Given the description of an element on the screen output the (x, y) to click on. 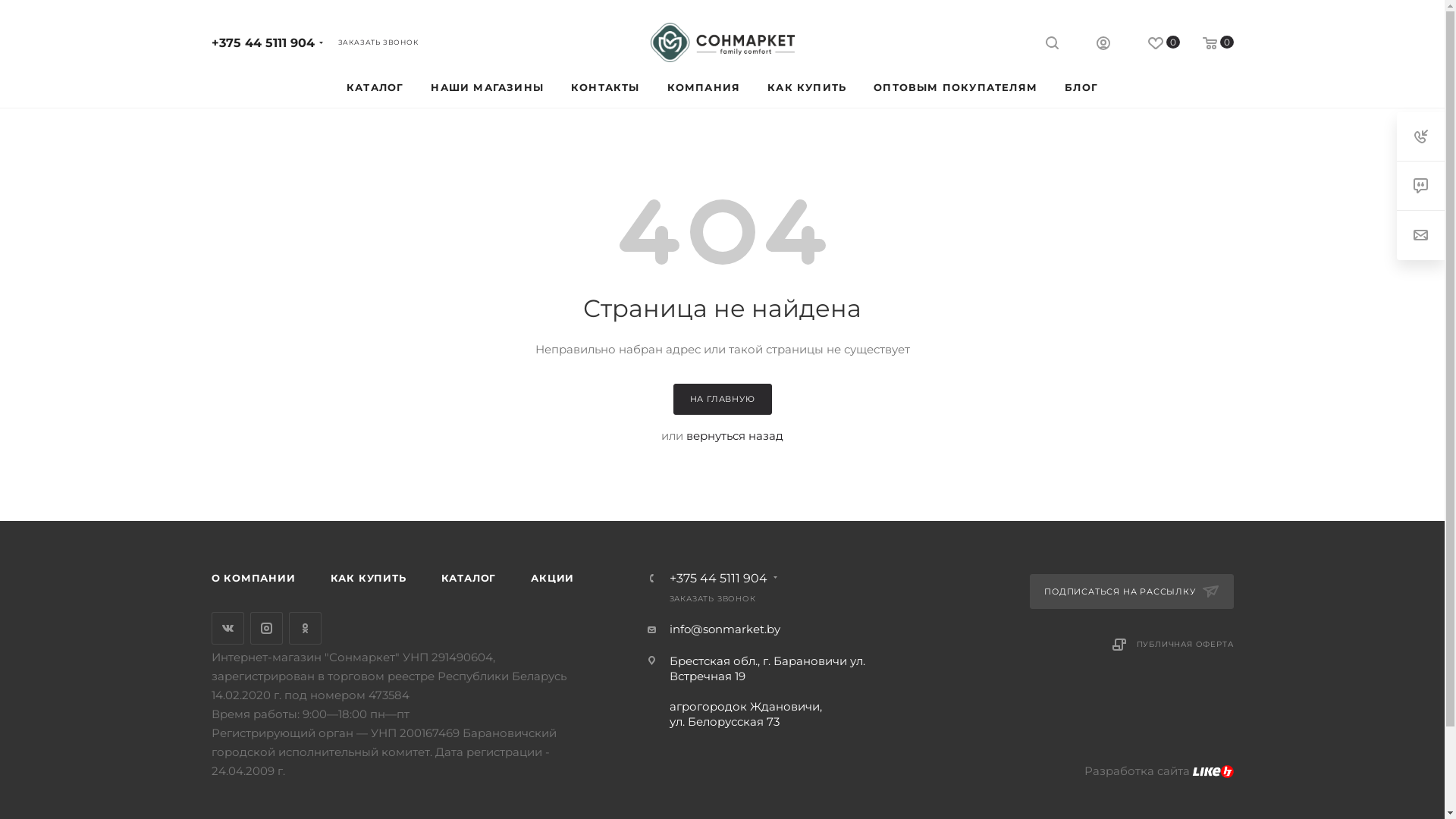
Instagram Element type: text (266, 627)
+375 44 5111 904 Element type: text (261, 42)
info@sonmarket.by Element type: text (723, 628)
+375 44 5111 904 Element type: text (717, 578)
0 Element type: text (1152, 43)
0 Element type: text (1206, 43)
